Given the description of an element on the screen output the (x, y) to click on. 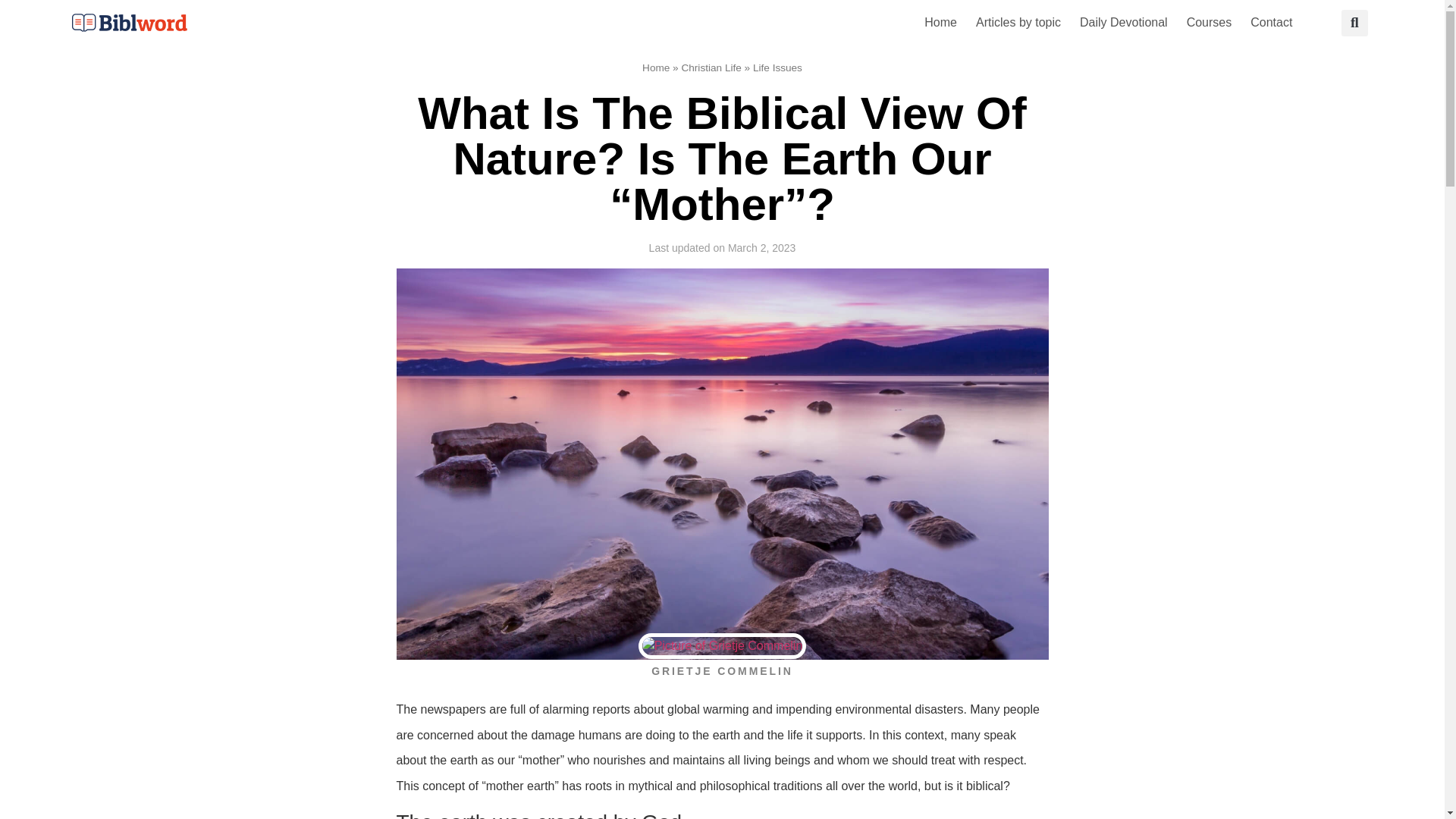
GRIETJE COMMELIN (722, 671)
Home (940, 22)
Contact (1271, 22)
Courses (1209, 22)
Christian Life (711, 67)
Life Issues (777, 67)
Articles by topic (1018, 22)
Daily Devotional (1122, 22)
Home (655, 67)
